Given the description of an element on the screen output the (x, y) to click on. 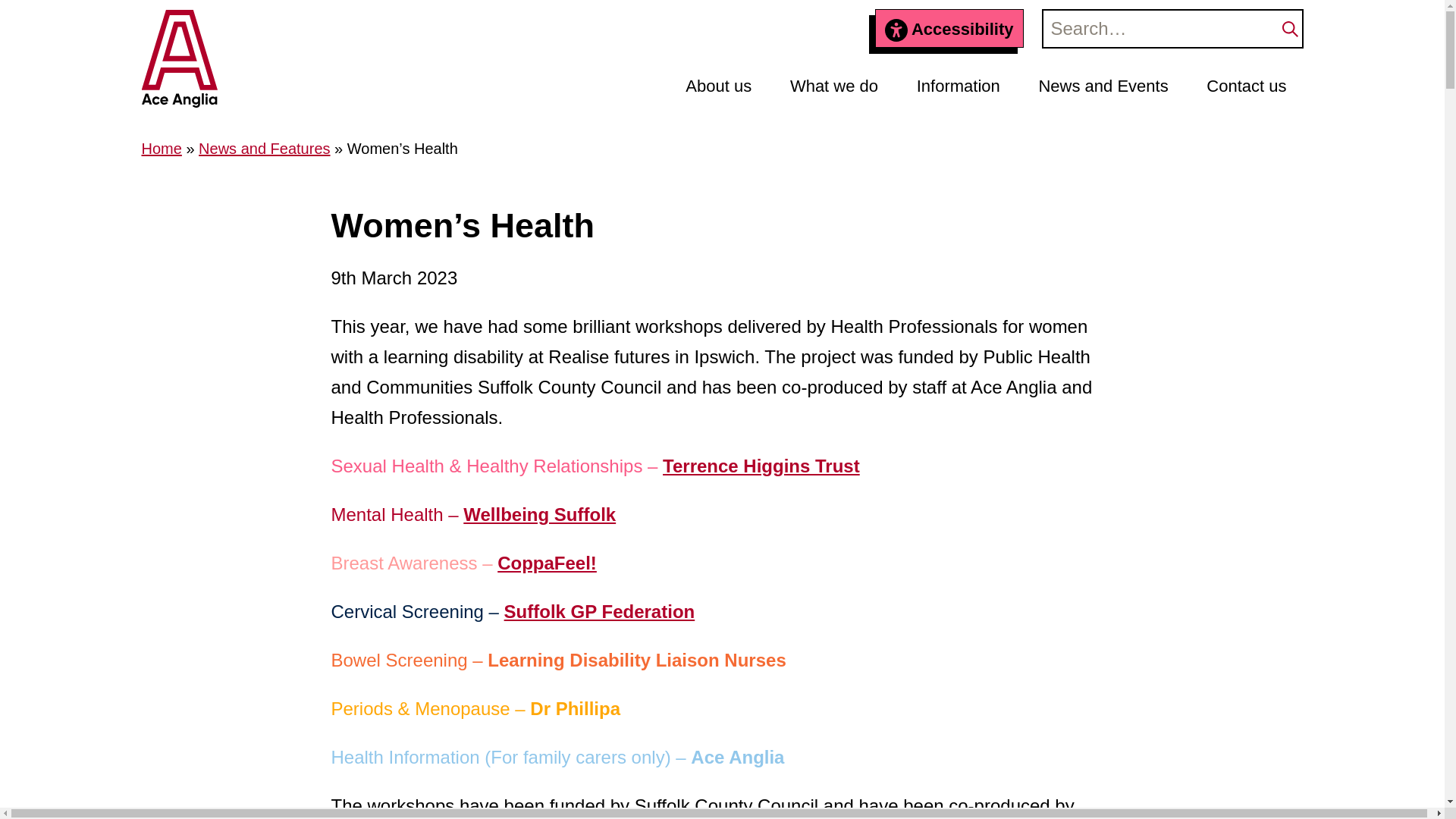
What we do (833, 87)
News and Features (264, 148)
Home (160, 148)
Wellbeing Suffolk (539, 514)
Suffolk GP Federation (599, 611)
Submit (1288, 28)
News and Events (1102, 87)
About us (718, 87)
Contact us (1246, 86)
